Given the description of an element on the screen output the (x, y) to click on. 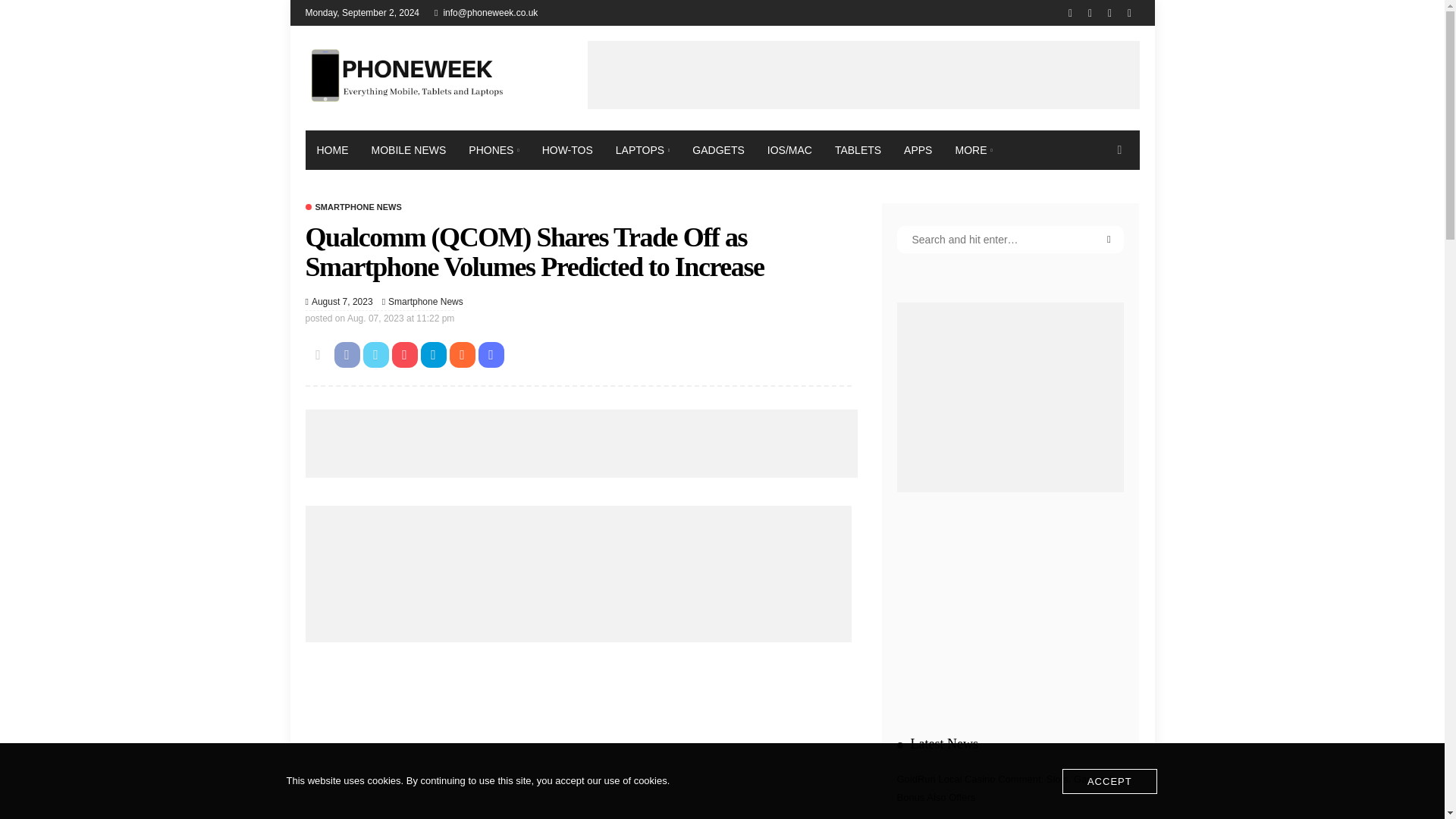
Smartphone news (425, 301)
PHONES (493, 149)
GADGETS (718, 149)
TABLETS (858, 149)
Smartphone news (352, 207)
Advertisement (862, 74)
APPS (917, 149)
SMARTPHONE NEWS (352, 207)
HOME (331, 149)
MORE (973, 149)
